Given the description of an element on the screen output the (x, y) to click on. 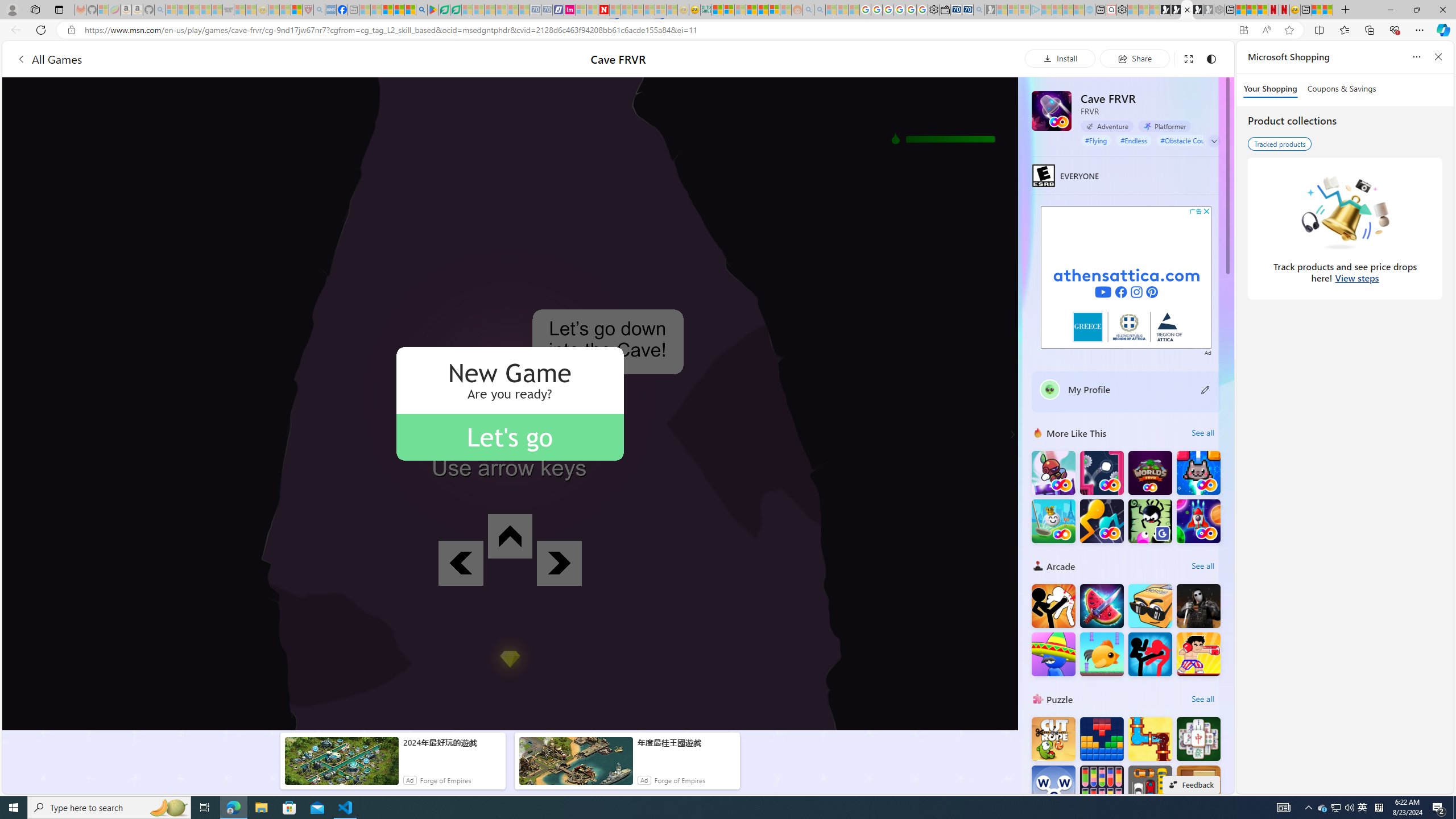
See all (1202, 698)
New Report Confirms 2023 Was Record Hot | Watch - Sleeping (216, 9)
Stickman fighter : Epic battle (1149, 653)
Sticky Goo (1149, 521)
Stickman Brawl (1053, 653)
Lines FRVR (1101, 521)
Microsoft Start - Sleeping (1068, 9)
Adventure (1107, 125)
